Given the description of an element on the screen output the (x, y) to click on. 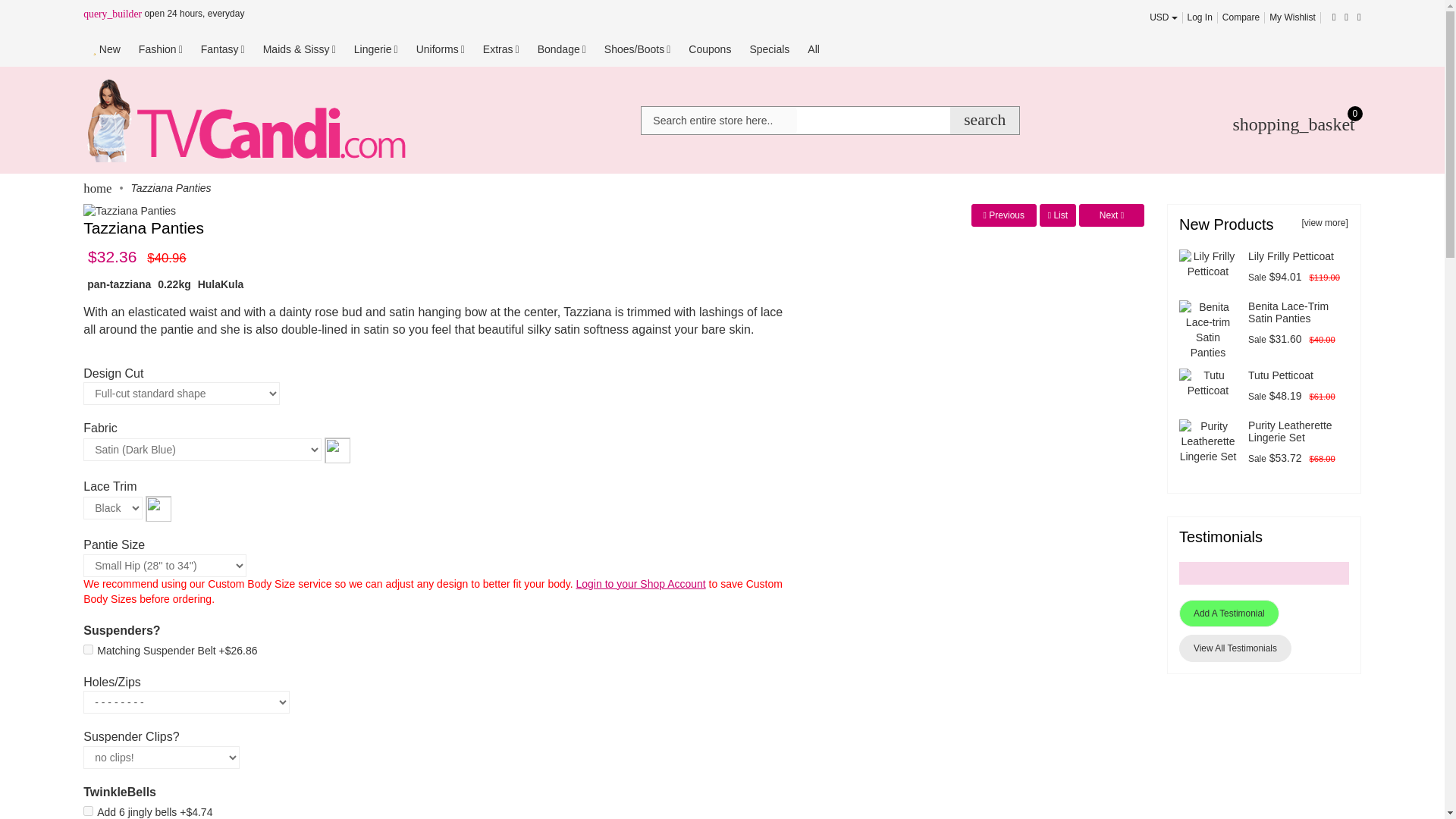
127 (87, 649)
 Tazziana Panties  (129, 211)
Compare (1241, 17)
see more of our colours (158, 508)
My Wishlist (1292, 17)
Log In (1200, 17)
218 (87, 810)
Search entire store here.. (719, 120)
see more of our colours (337, 449)
